Given the description of an element on the screen output the (x, y) to click on. 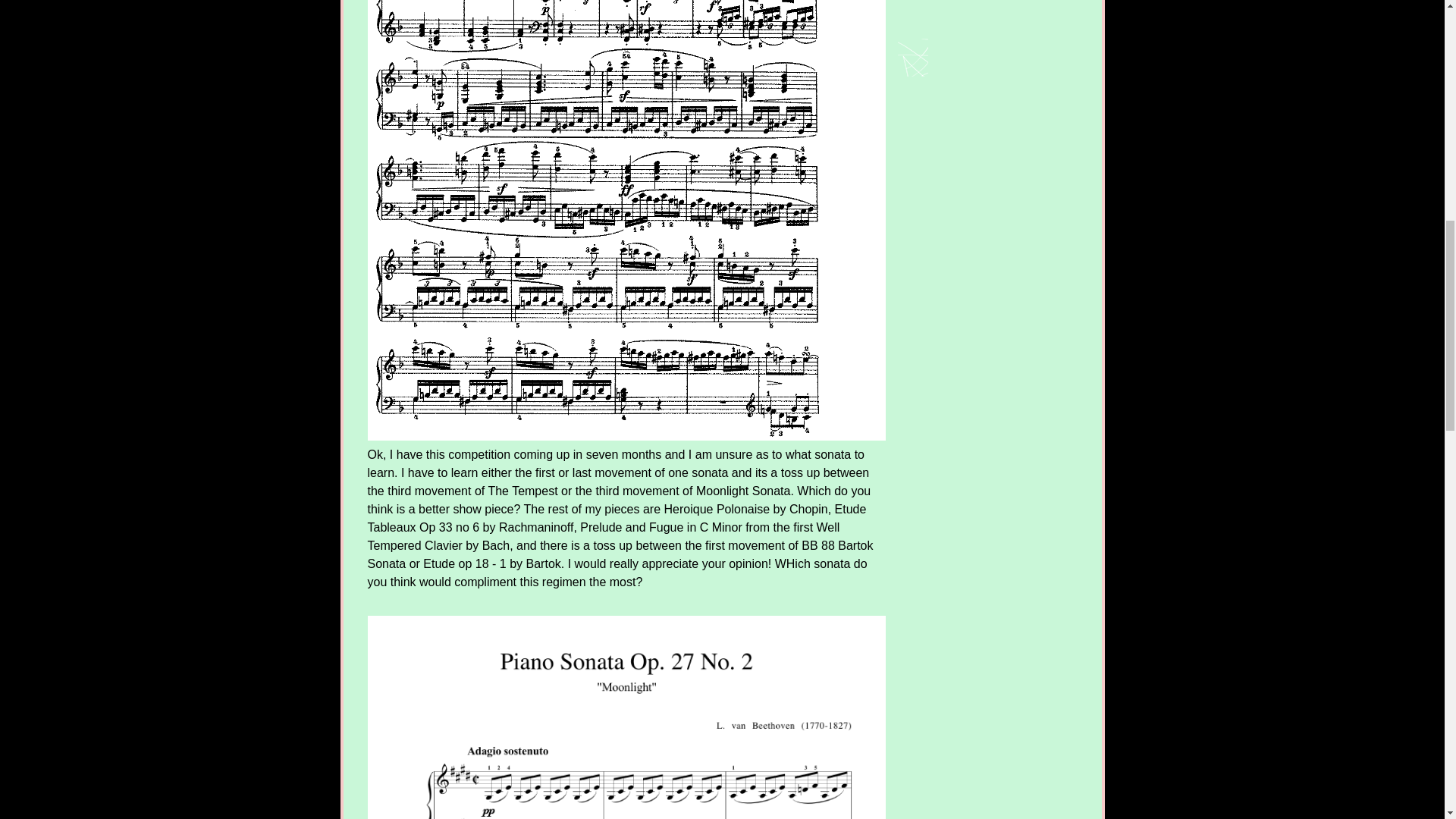
Beethoven Tempest Sonata 3rd Movement Pdf (625, 717)
